Given the description of an element on the screen output the (x, y) to click on. 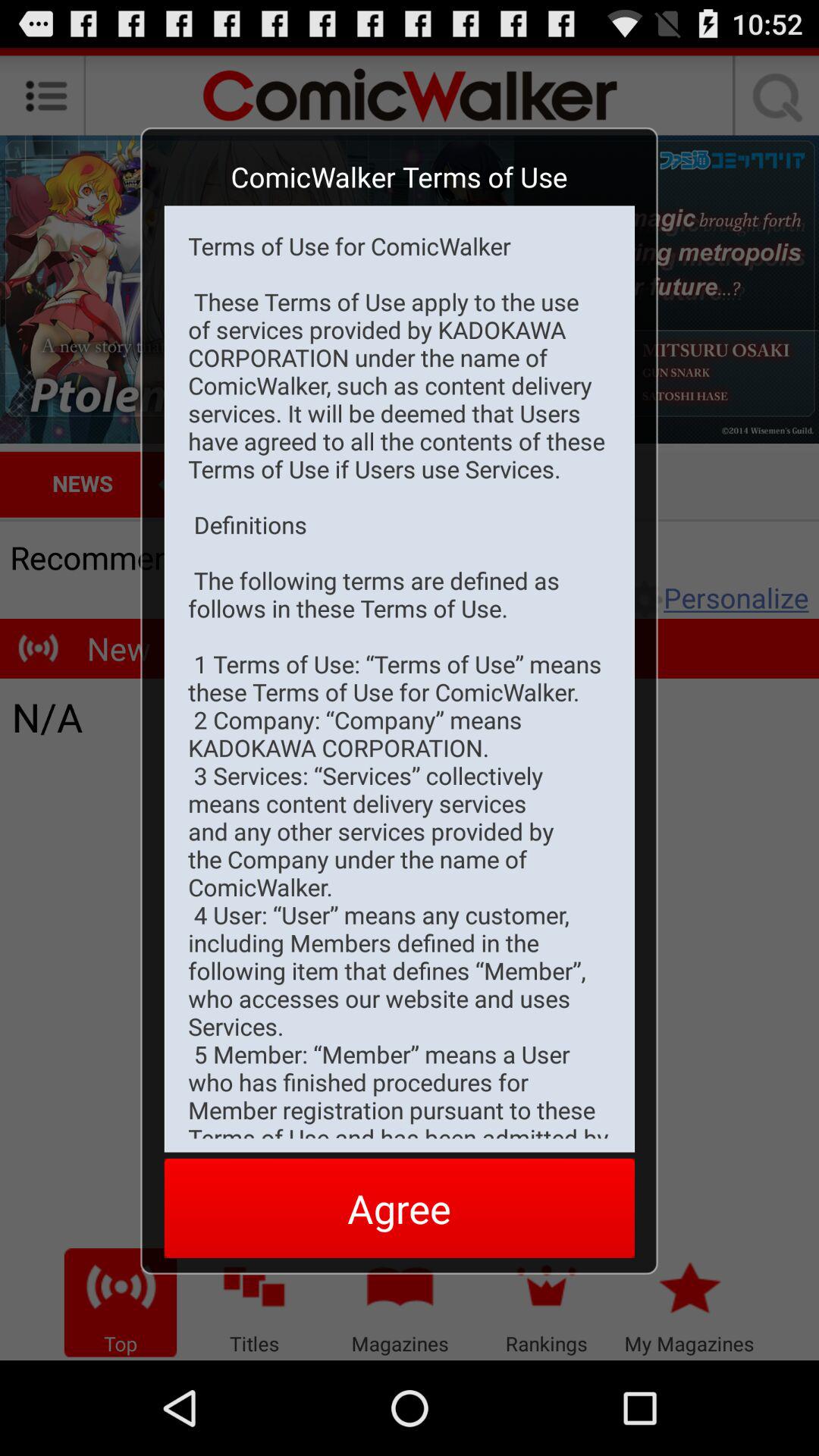
press item at the bottom (399, 1208)
